Given the description of an element on the screen output the (x, y) to click on. 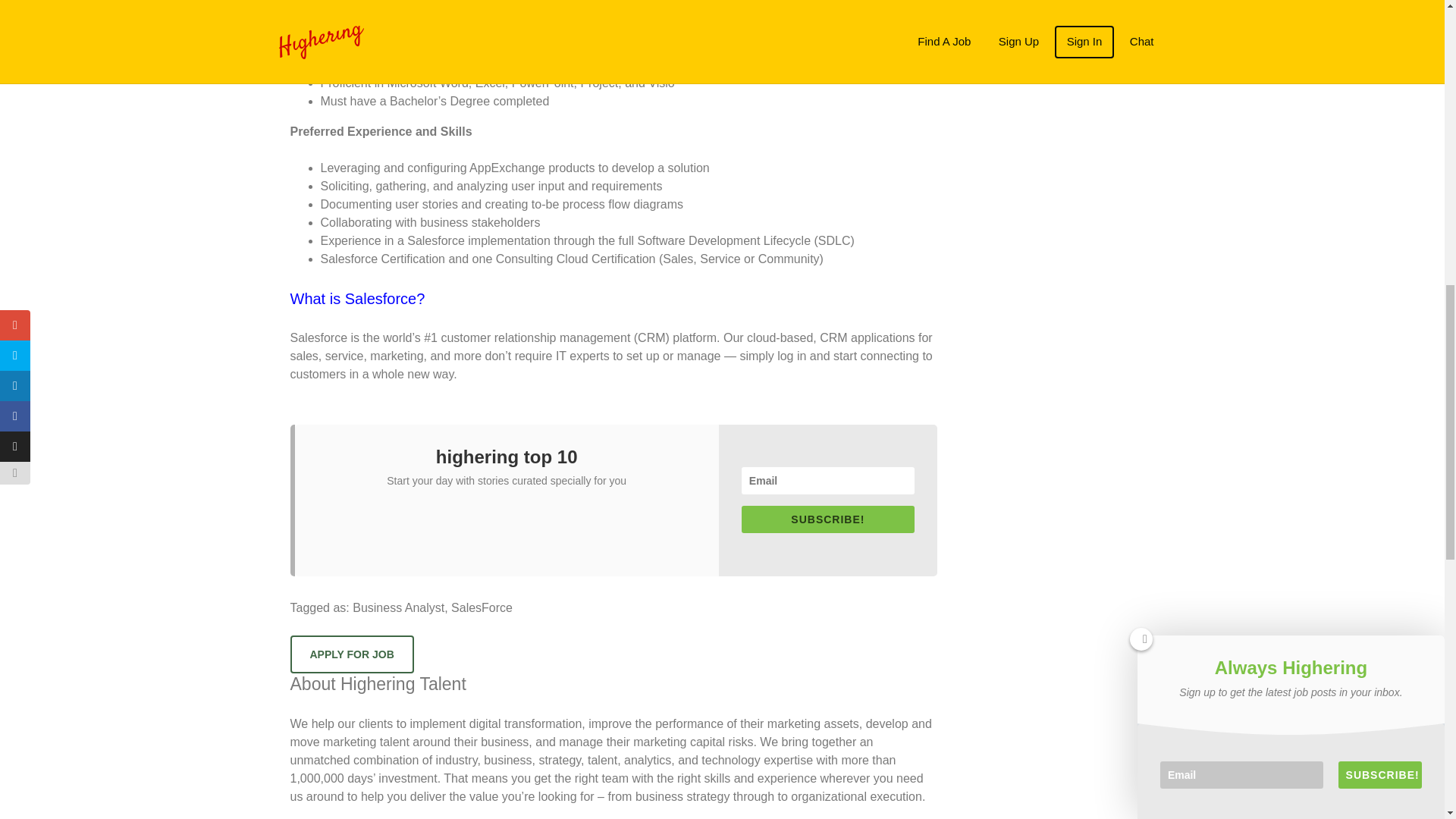
Apply for job (351, 654)
SUBSCRIBE! (827, 519)
What is Salesforce? (357, 298)
